Given the description of an element on the screen output the (x, y) to click on. 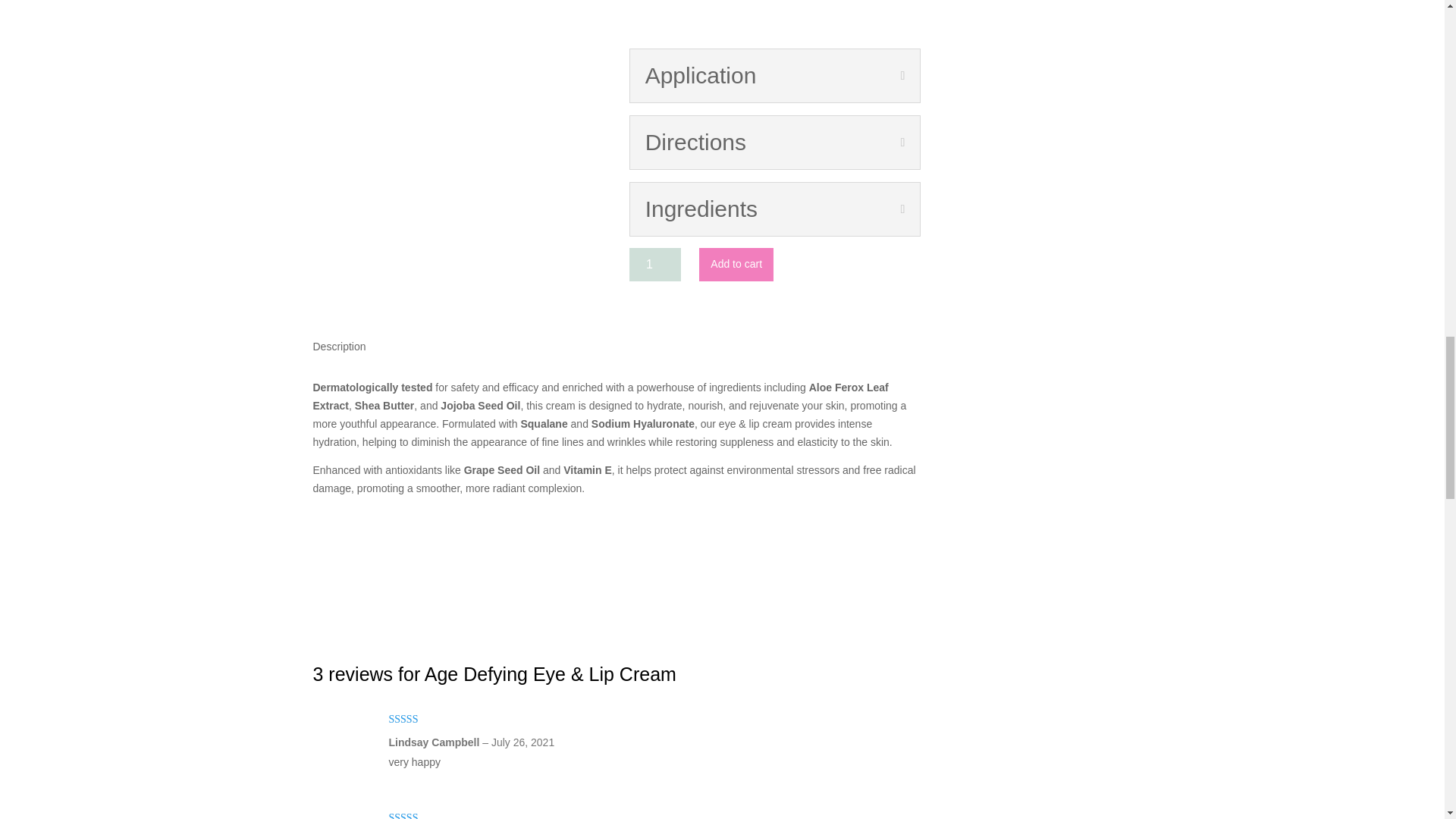
1 (654, 264)
